Given the description of an element on the screen output the (x, y) to click on. 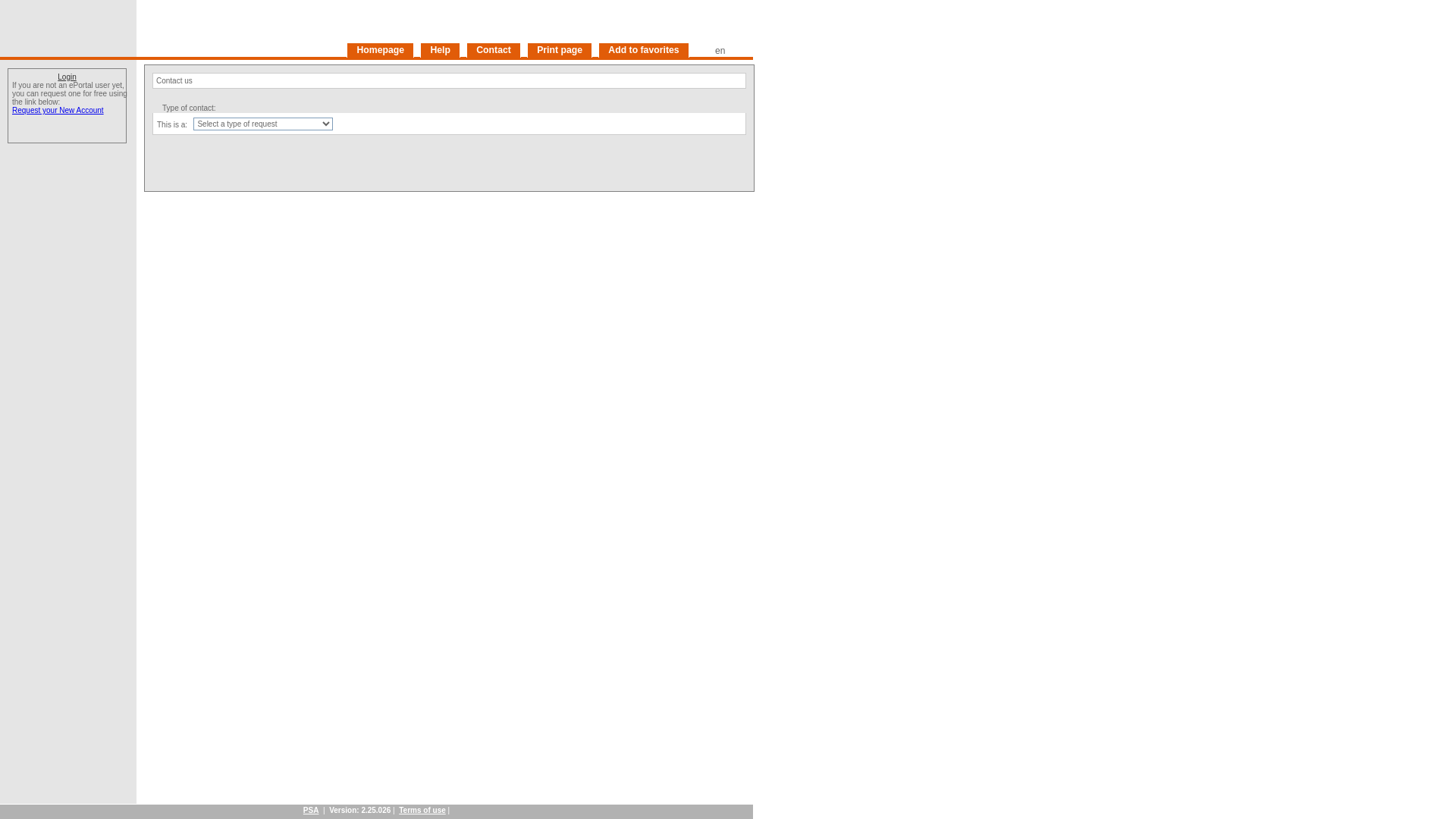
Login Element type: text (66, 76)
Request your New Account Element type: text (57, 110)
Help Element type: text (440, 49)
Terms of use Element type: text (421, 810)
Print page Element type: text (559, 49)
Contact Element type: text (493, 49)
Homepage Element type: text (380, 49)
Add to favorites Element type: text (643, 49)
select Element type: text (736, 50)
PSA Element type: text (311, 810)
